Given the description of an element on the screen output the (x, y) to click on. 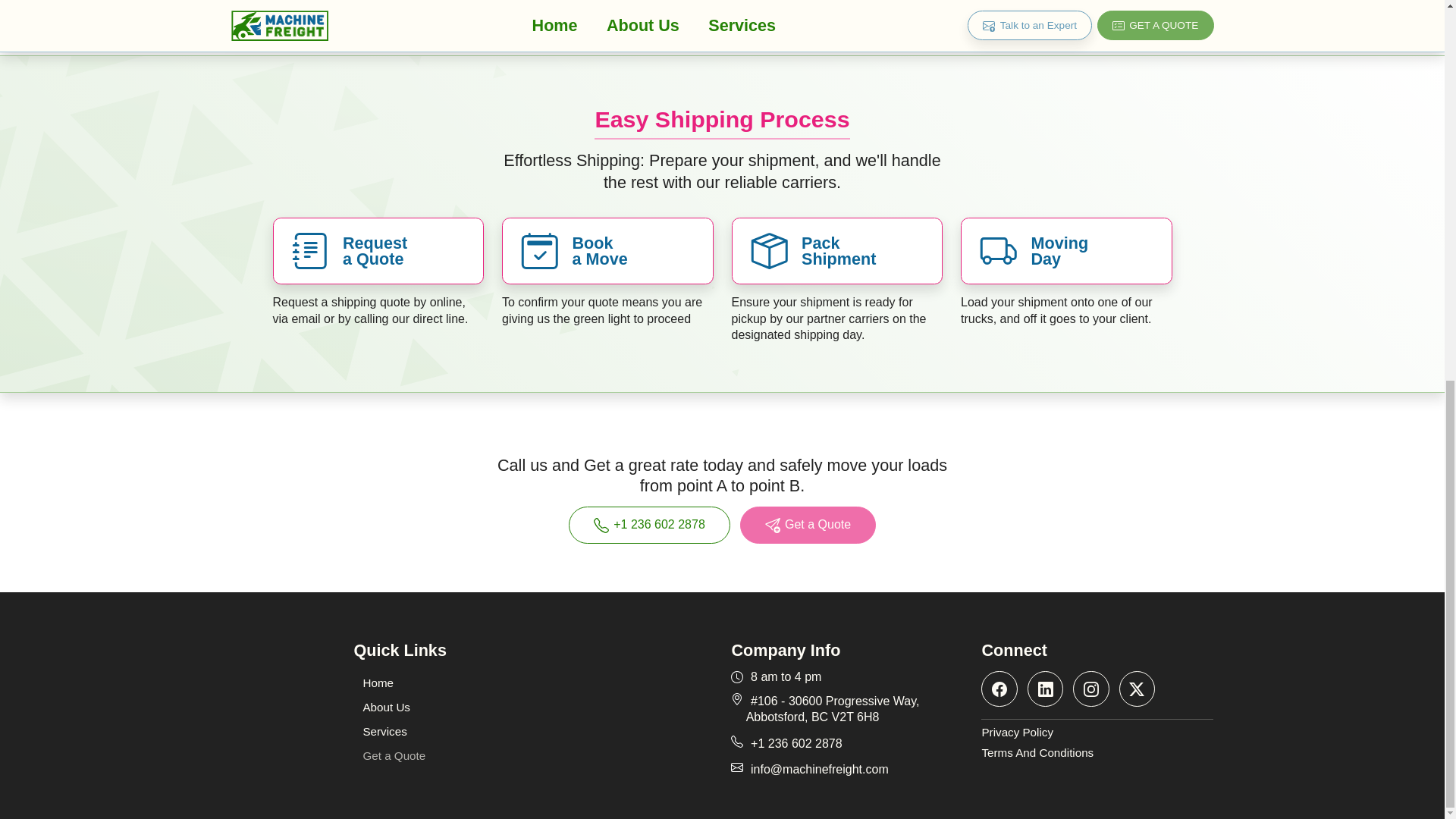
Terms And Conditions (1096, 753)
Privacy Policy (1096, 732)
Get a Quote (393, 754)
About Us (386, 707)
Services (383, 731)
Home (378, 682)
Get a Quote (807, 524)
